Given the description of an element on the screen output the (x, y) to click on. 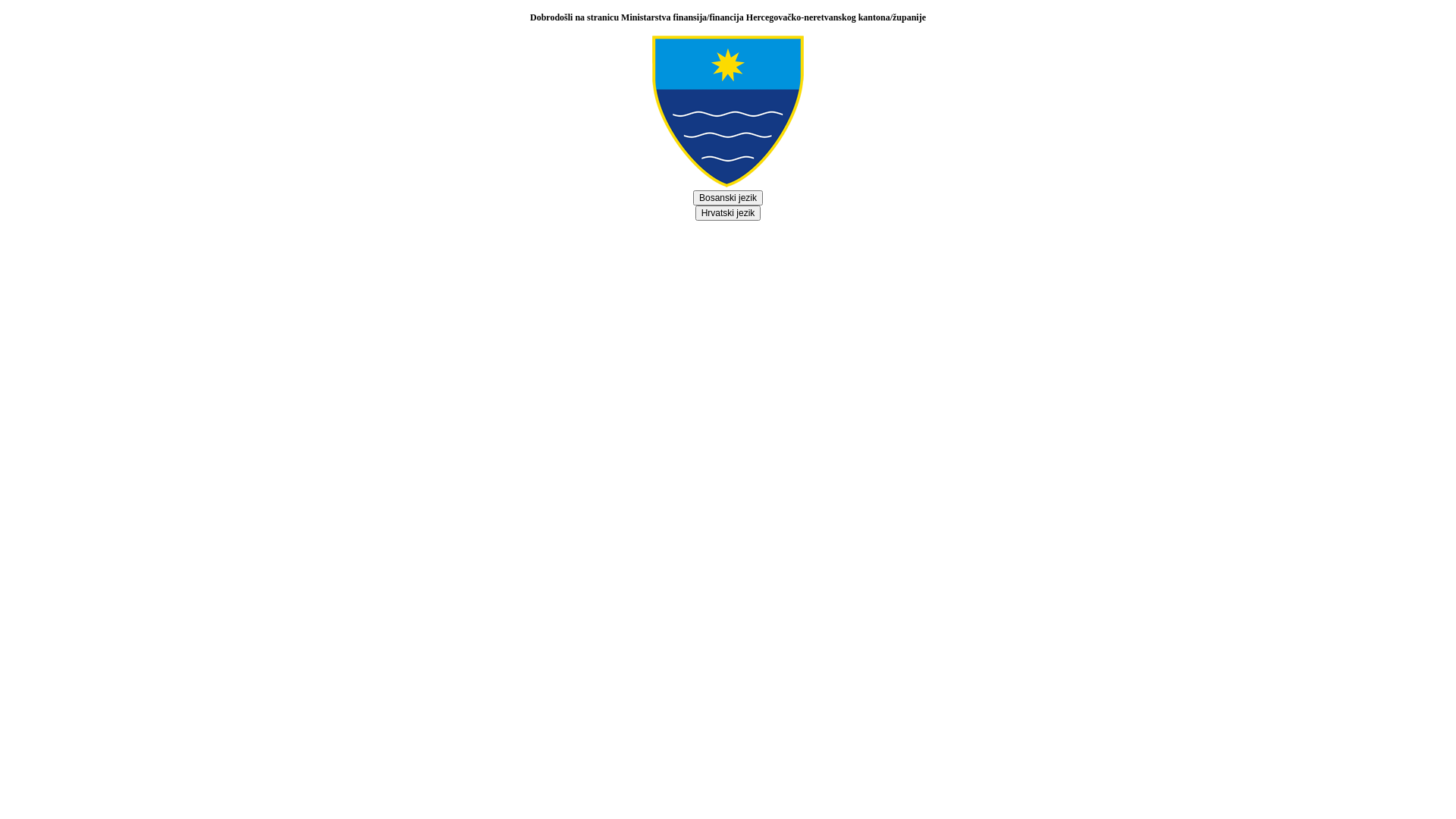
Hrvatski jezik Element type: text (728, 212)
Bosanski jezik Element type: text (727, 197)
